Given the description of an element on the screen output the (x, y) to click on. 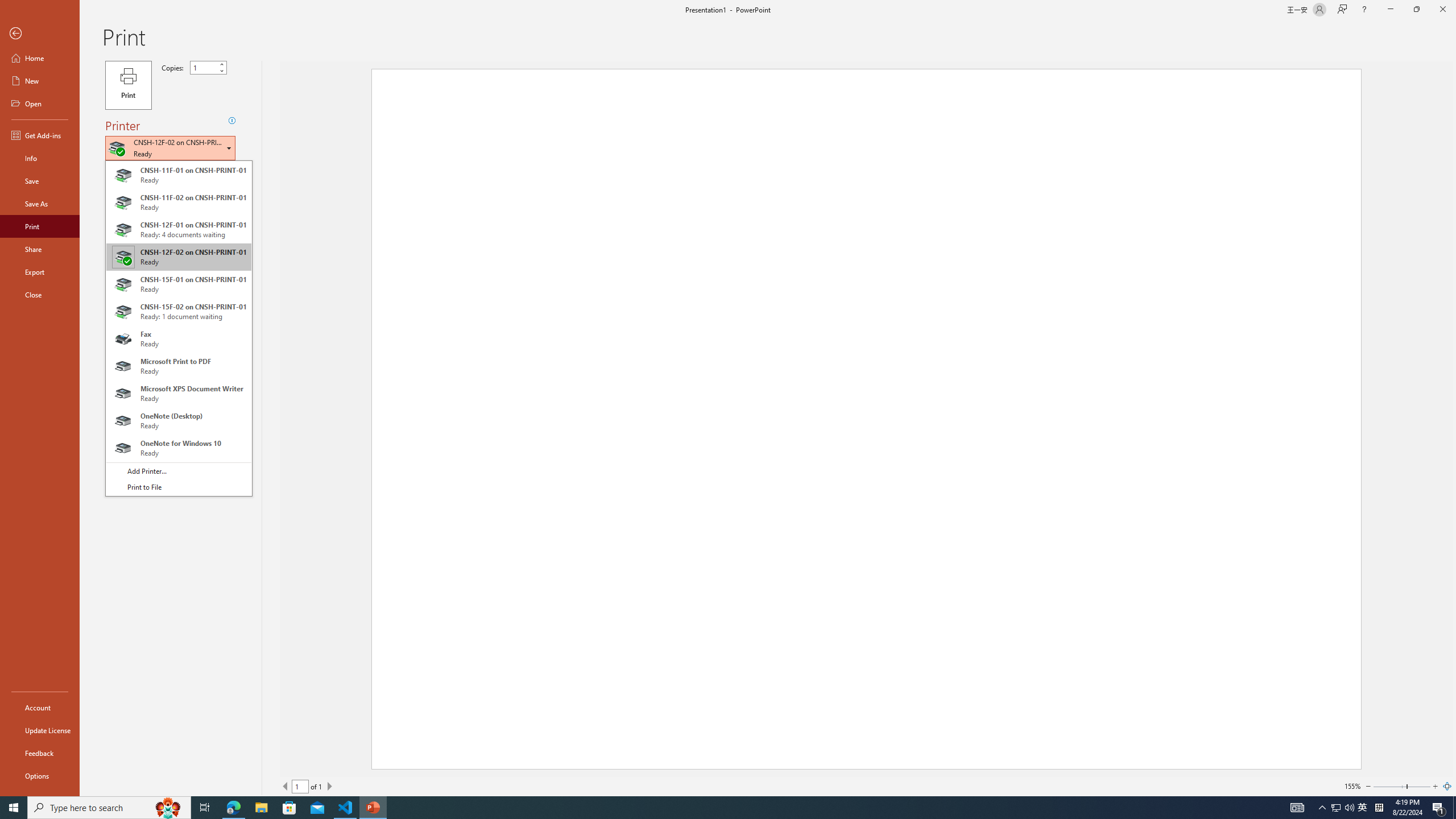
Which Printer (177, 328)
Account (40, 707)
Print (40, 225)
Options (40, 775)
Feedback (40, 753)
